Given the description of an element on the screen output the (x, y) to click on. 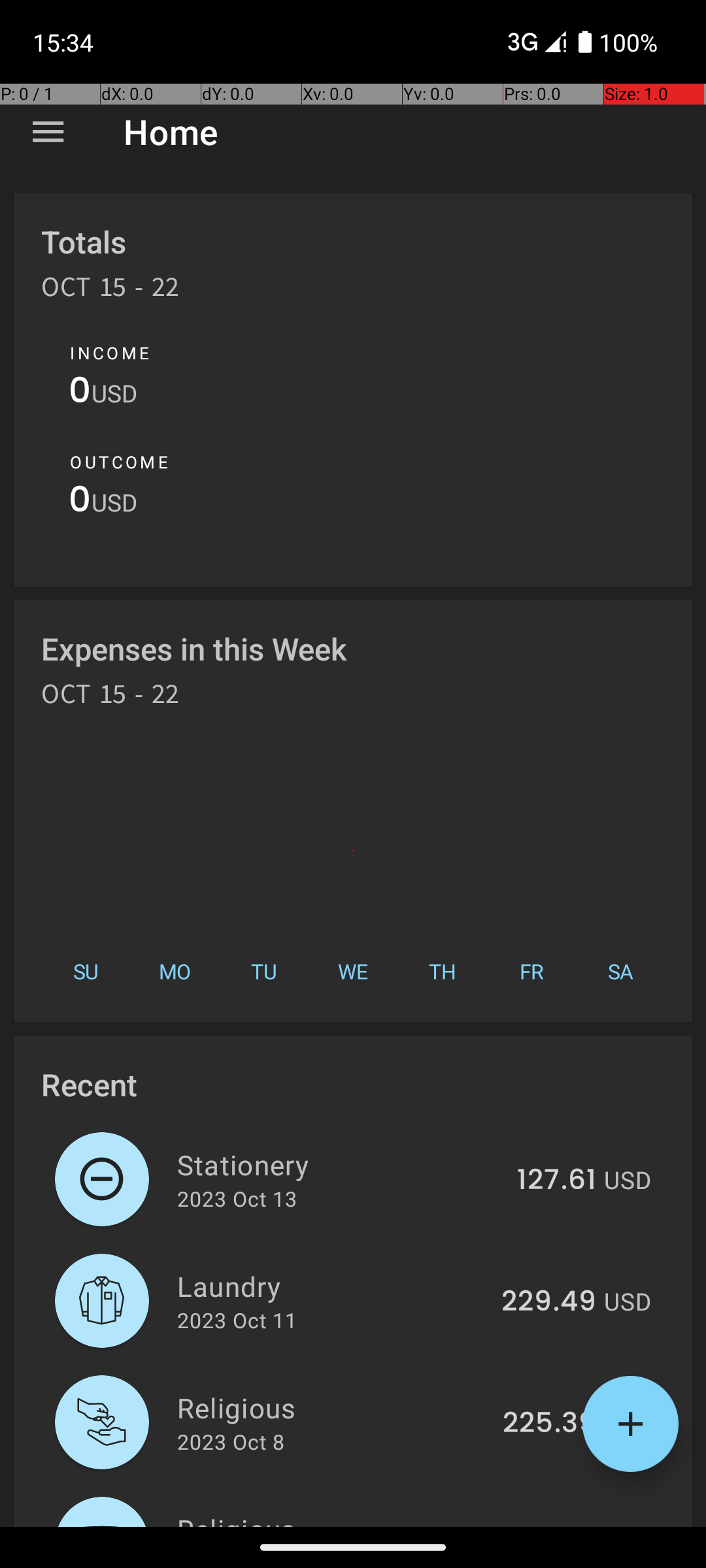
Stationery Element type: android.widget.TextView (339, 1164)
127.61 Element type: android.widget.TextView (556, 1180)
Laundry Element type: android.widget.TextView (331, 1285)
229.49 Element type: android.widget.TextView (548, 1301)
Religious Element type: android.widget.TextView (332, 1407)
2023 Oct 8 Element type: android.widget.TextView (230, 1441)
225.39 Element type: android.widget.TextView (549, 1423)
